Given the description of an element on the screen output the (x, y) to click on. 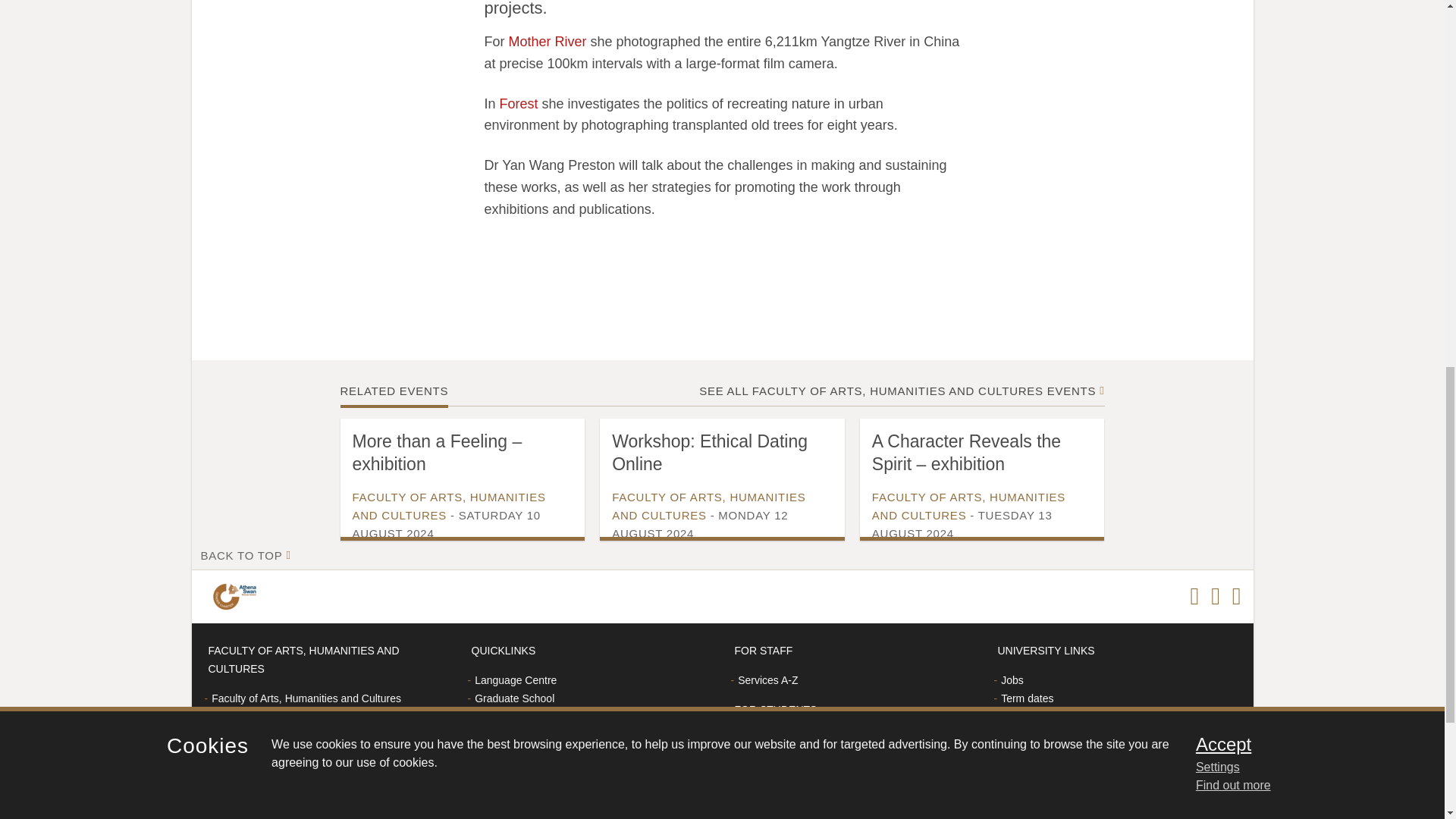
Visit Athena Swan Bronze (236, 596)
